Given the description of an element on the screen output the (x, y) to click on. 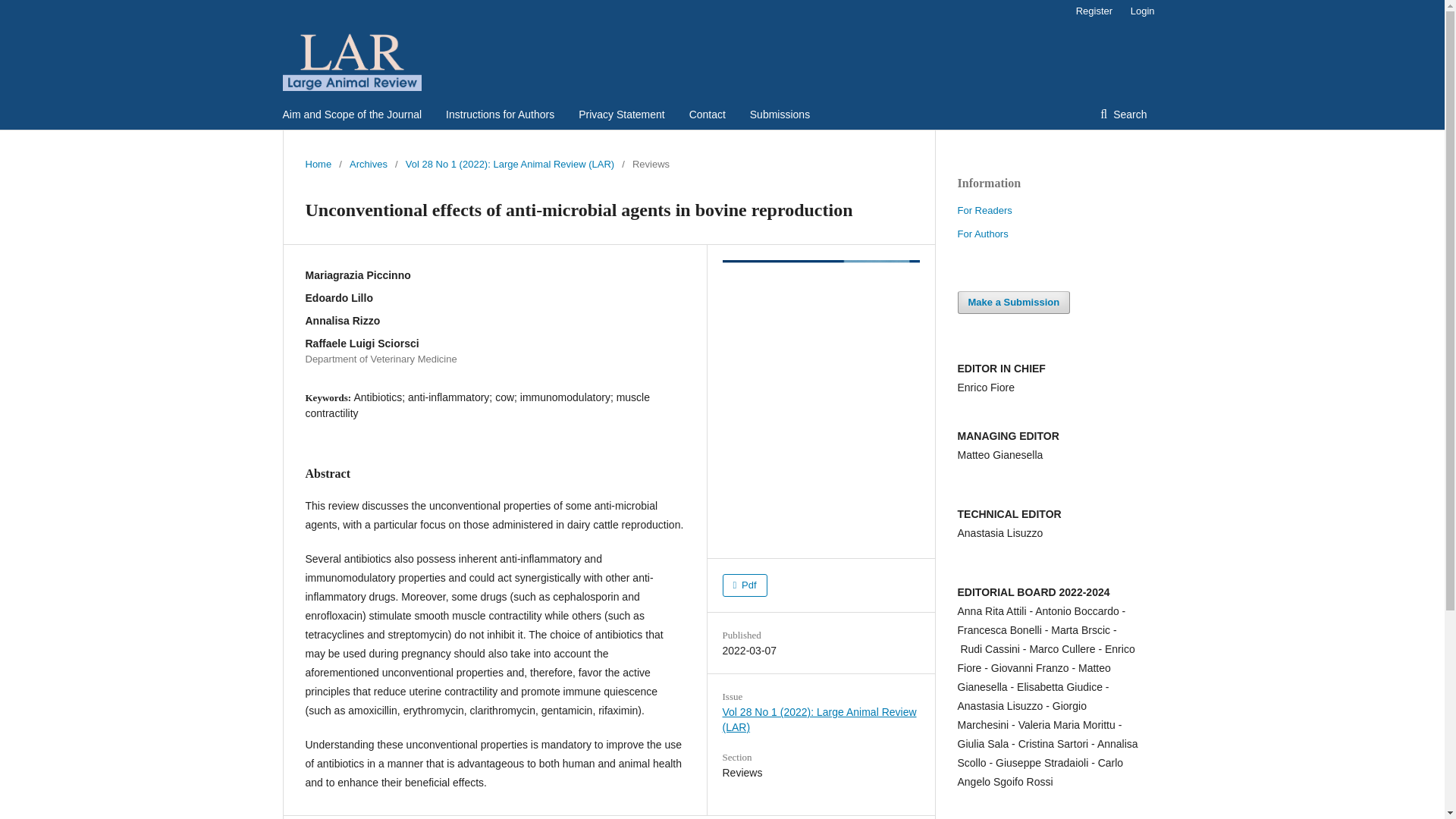
Privacy Statement (621, 114)
Contact (706, 114)
Login (1138, 11)
For Readers (983, 210)
Home (317, 164)
Submissions (779, 114)
Instructions for Authors (499, 114)
Archives (368, 164)
For Authors (981, 233)
Register (1093, 11)
